Given the description of an element on the screen output the (x, y) to click on. 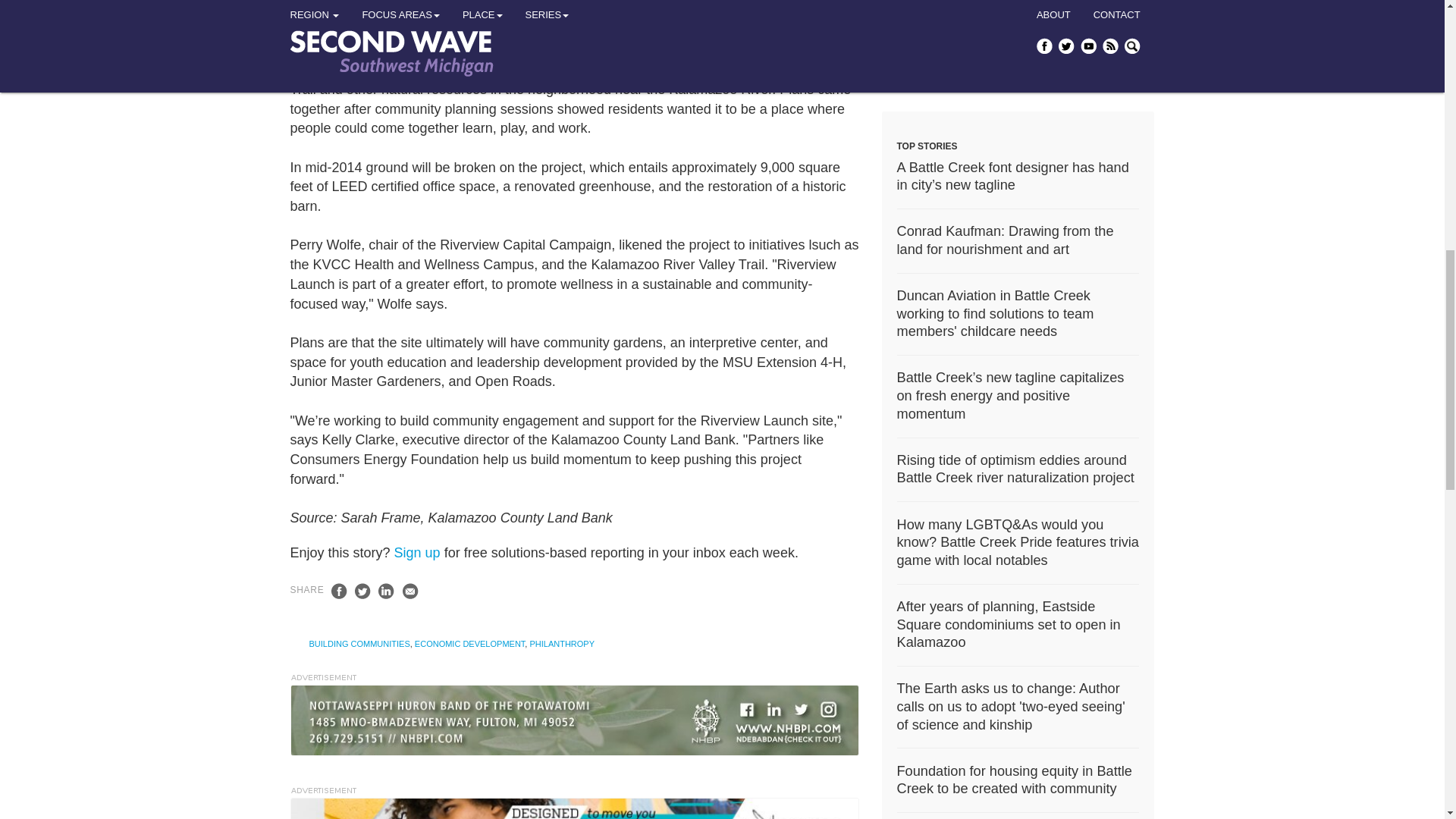
View more stories related to Philanthropy (561, 643)
View more stories related to Building Communities (359, 643)
KCAD (574, 808)
Michigan LISC (994, 39)
NHBPI  (574, 719)
View more stories related to Economic Development (469, 643)
